Given the description of an element on the screen output the (x, y) to click on. 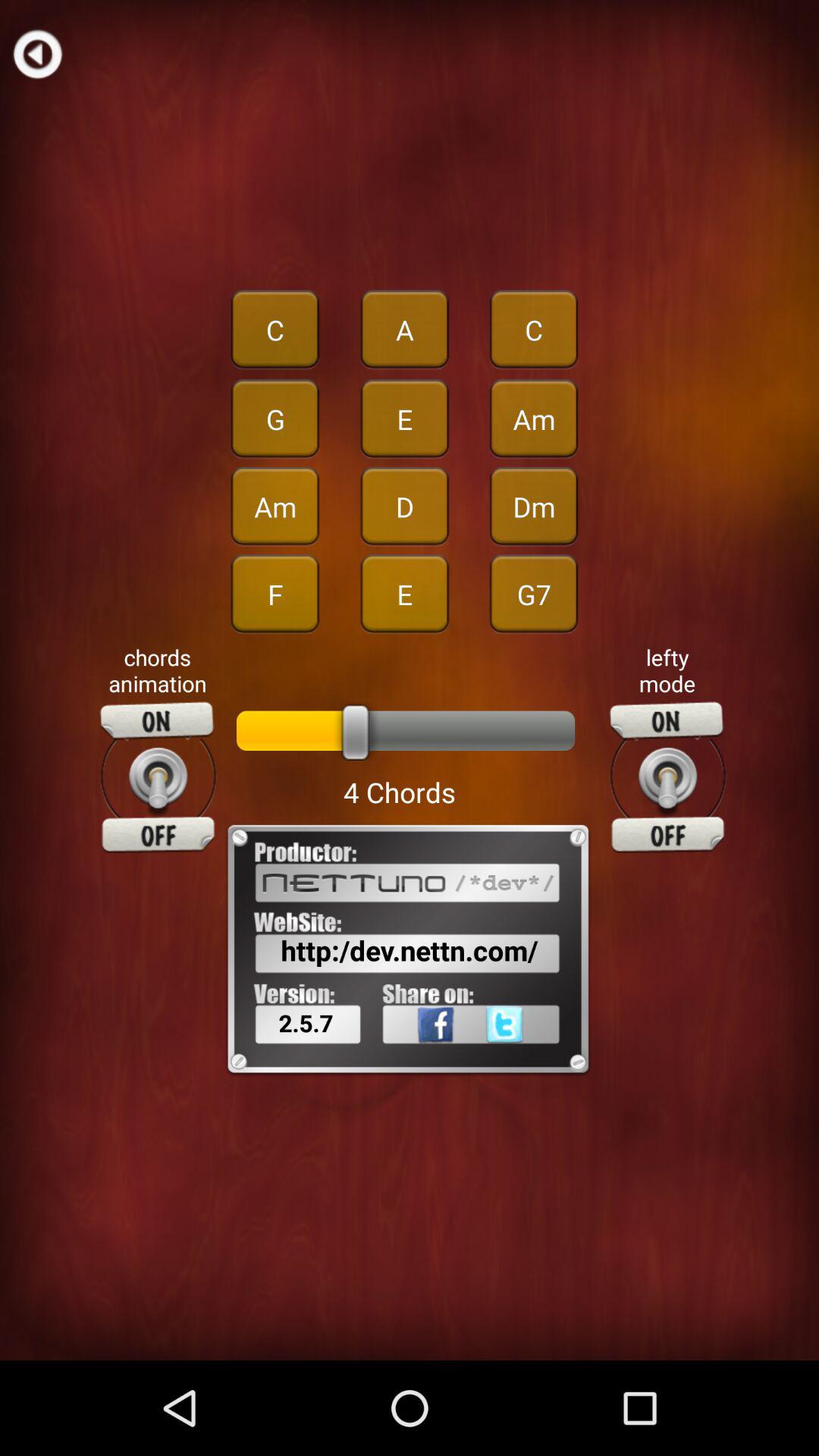
turn off the item to the right of 2.5.7 app (415, 1057)
